Given the description of an element on the screen output the (x, y) to click on. 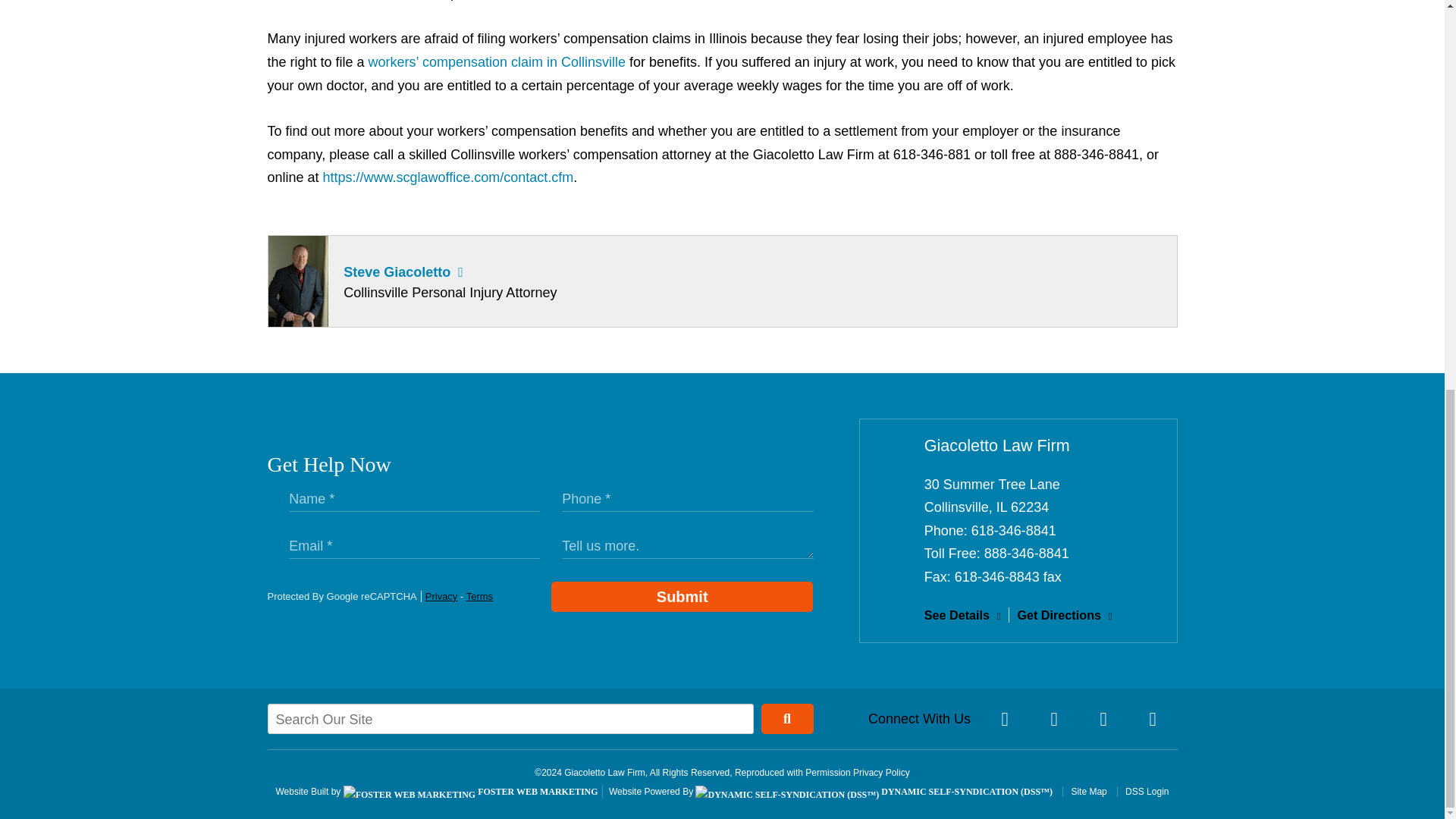
Search (787, 718)
Get Directions (1064, 614)
Privacy (441, 595)
See Details (962, 614)
Site Map (1084, 791)
FOSTER WEB MARKETING (470, 791)
Steve Giacoletto (396, 272)
Terms (479, 595)
Privacy Policy (881, 772)
Submit (682, 596)
